Given the description of an element on the screen output the (x, y) to click on. 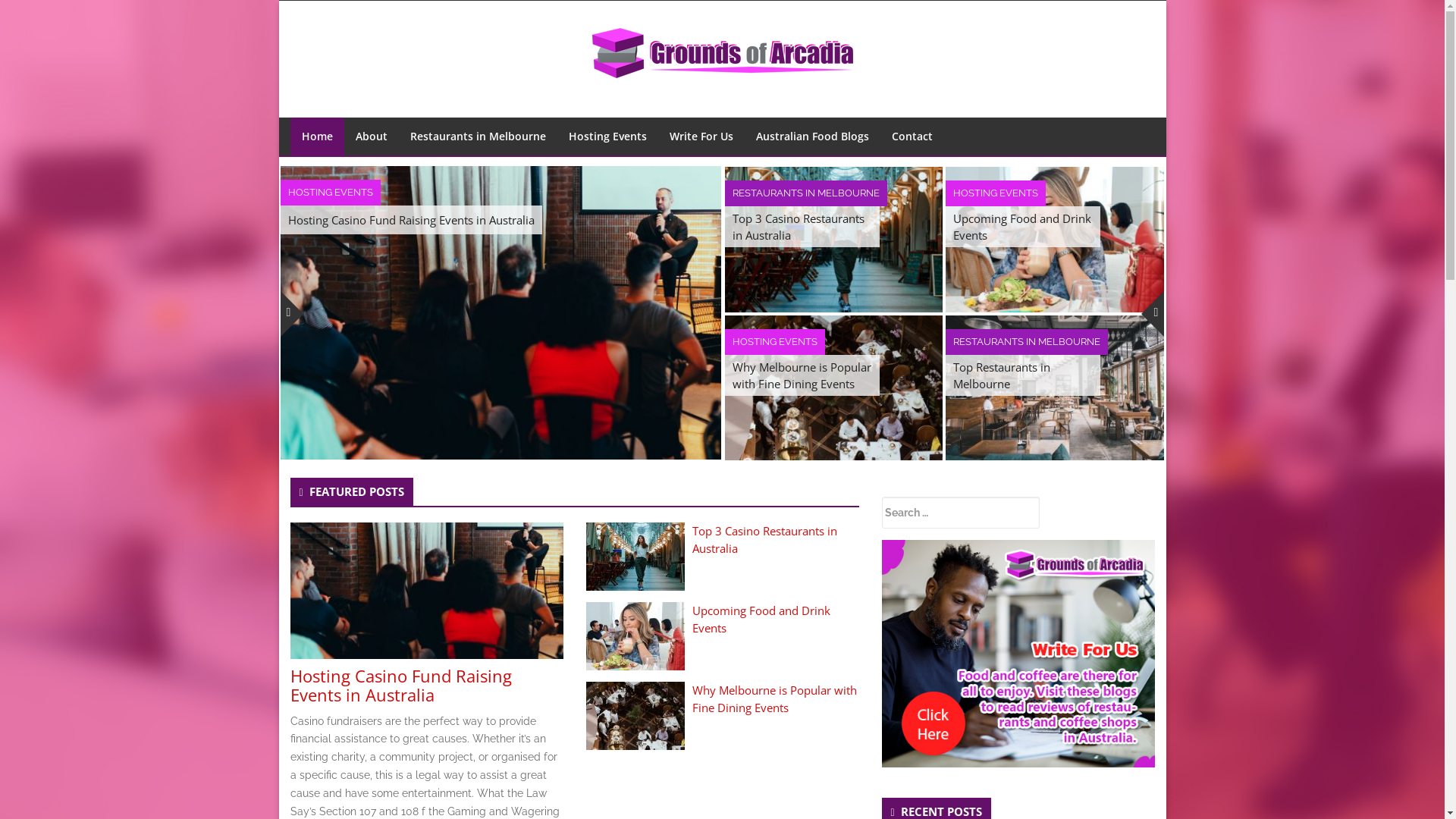
Why Melbourne is Popular with Fine Dining Events Element type: hover (833, 386)
Top 3 Casino Restaurants in Australia Element type: hover (634, 556)
Hosting Casino Fund Raising Events in Australia Element type: hover (425, 590)
HOSTING EVENTS Element type: text (995, 193)
Upcoming Food and Drink Events Element type: hover (634, 636)
Why Melbourne is Popular with Fine Dining Events Element type: hover (634, 715)
Top 3 Casino Restaurants in Australia Element type: hover (833, 238)
Search Element type: text (147, 12)
Top Restaurants in Melbourne Element type: hover (1054, 386)
Home Element type: text (316, 136)
Top 3 Casino Restaurants in Australia Element type: hover (833, 239)
Hosting Events Element type: text (606, 136)
Why Melbourne is Popular with Fine Dining Events Element type: hover (833, 388)
About Element type: text (371, 136)
Why Melbourne is Popular with Fine Dining Events Element type: text (773, 698)
Contact Element type: text (911, 136)
Top 3 Casino Restaurants in Australia Element type: hover (634, 555)
Hosting Casino Fund Raising Events in Australia Element type: hover (500, 311)
Upcoming Food and Drink Events Element type: text (1022, 226)
Restaurants in Melbourne Element type: text (477, 136)
RESTAURANTS IN MELBOURNE Element type: text (805, 193)
Why Melbourne is Popular with Fine Dining Events Element type: text (801, 374)
Hosting Casino Fund Raising Events in Australia Element type: hover (500, 312)
Hosting Casino Fund Raising Events in Australia Element type: text (411, 219)
Why Melbourne is Popular with Fine Dining Events Element type: hover (634, 715)
HOSTING EVENTS Element type: text (774, 341)
RESTAURANTS IN MELBOURNE Element type: text (1026, 341)
Top Restaurants in Melbourne Element type: text (1022, 374)
Upcoming Food and Drink Events Element type: hover (634, 635)
Upcoming Food and Drink Events Element type: text (760, 618)
Upcoming Food and Drink Events Element type: hover (1054, 239)
Hosting Casino Fund Raising Events in Australia Element type: hover (425, 589)
Write For Us Element type: text (701, 136)
Upcoming Food and Drink Events Element type: hover (1054, 238)
Australian Food Blogs Element type: text (812, 136)
Top Restaurants in Melbourne Element type: hover (1054, 388)
Top 3 Casino Restaurants in Australia Element type: text (801, 226)
Top 3 Casino Restaurants in Australia Element type: text (763, 539)
HOSTING EVENTS Element type: text (330, 192)
Hosting Casino Fund Raising Events in Australia Element type: text (400, 685)
